Given the description of an element on the screen output the (x, y) to click on. 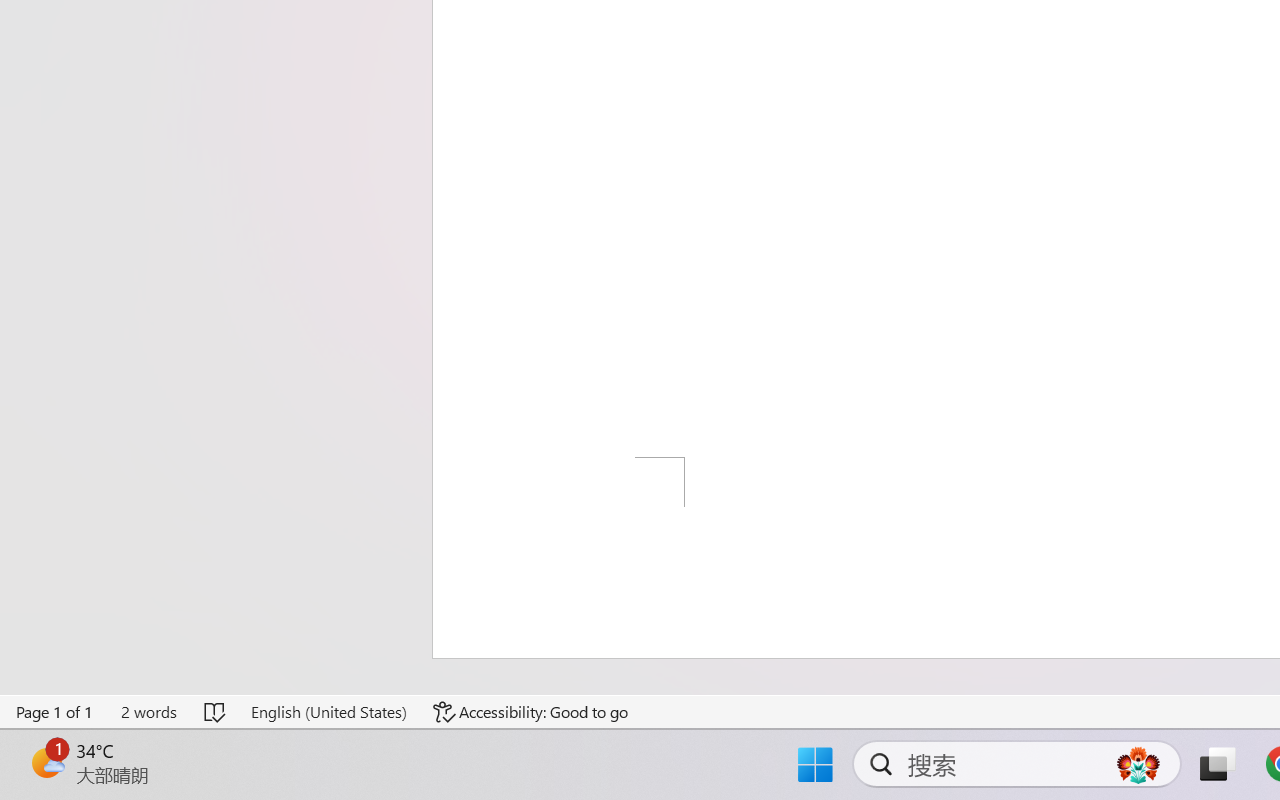
AutomationID: BadgeAnchorLargeTicker (46, 762)
Page Number Page 1 of 1 (55, 712)
Language English (United States) (328, 712)
Accessibility Checker Accessibility: Good to go (531, 712)
Spelling and Grammar Check No Errors (216, 712)
AutomationID: DynamicSearchBoxGleamImage (1138, 764)
